Given the description of an element on the screen output the (x, y) to click on. 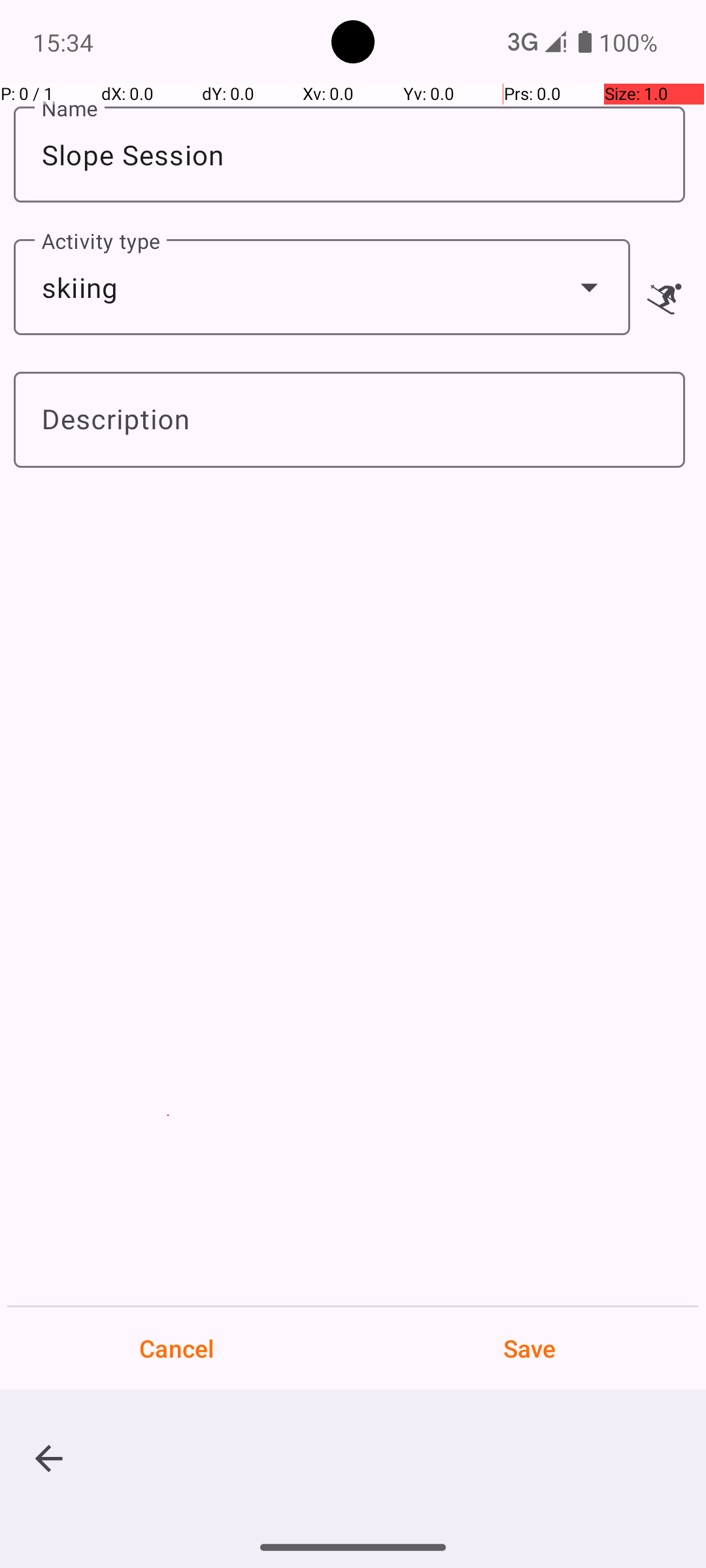
Slope Session Element type: android.widget.EditText (349, 154)
skiing Element type: android.widget.AutoCompleteTextView (321, 287)
